Given the description of an element on the screen output the (x, y) to click on. 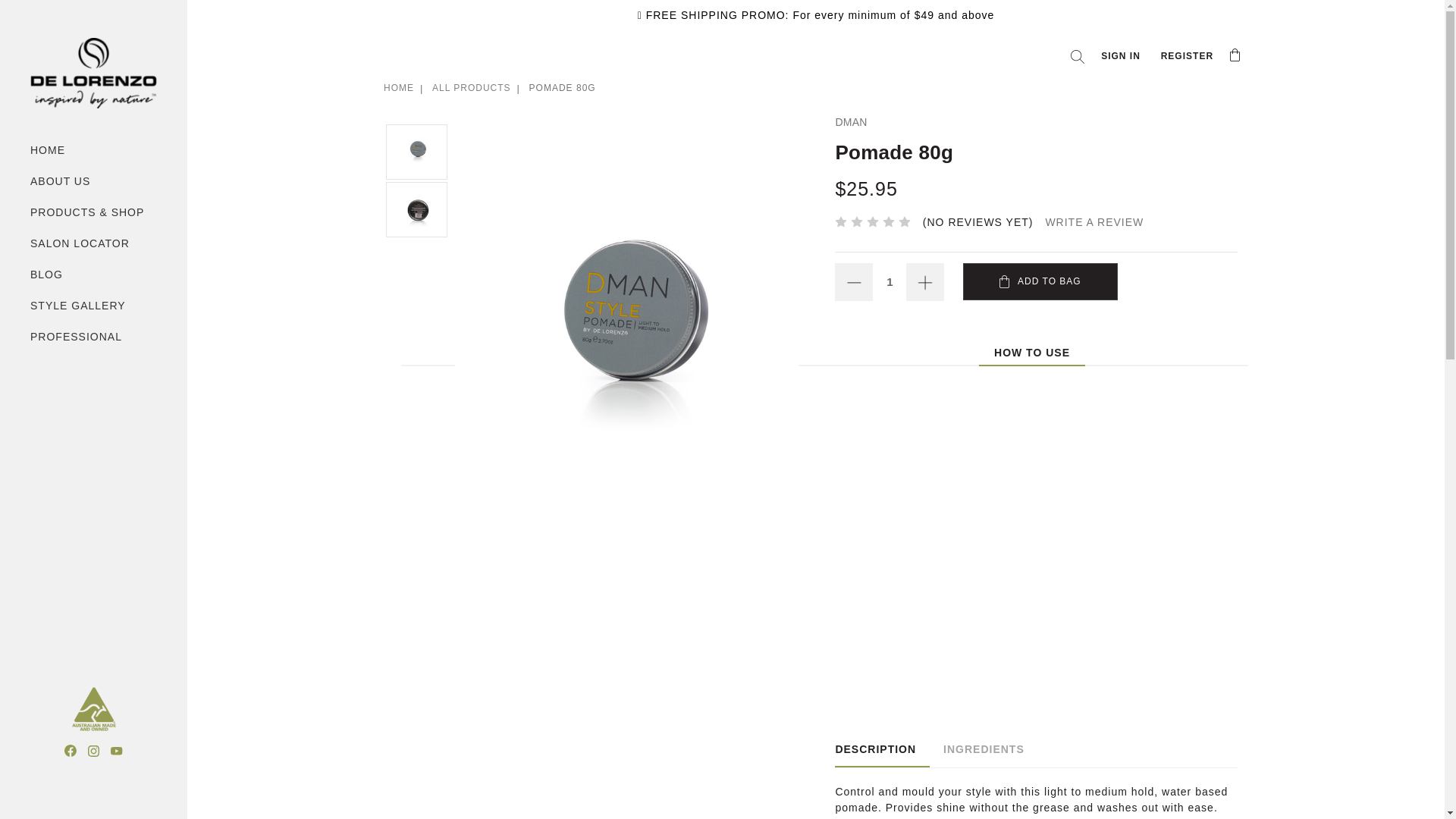
HOME Element type: text (93, 150)
Pomade 80g Element type: hover (417, 151)
ALL PRODUCTS Element type: text (471, 87)
SALON LOCATOR Element type: text (93, 243)
HOME Element type: text (398, 87)
Pomade 80g Element type: hover (417, 209)
ADD TO BAG Element type: text (1040, 281)
Pomade 80g Element type: hover (626, 342)
INGREDIENTS Element type: text (983, 749)
ABOUT US Element type: text (93, 181)
SIGN IN Element type: text (1120, 55)
DMAN Element type: text (850, 121)
INCREASE QUANTITY: Element type: text (925, 282)
PROFESSIONAL Element type: text (93, 336)
WRITE A REVIEW Element type: text (1093, 222)
De Lorenzo Hair and Cosmetic Research Pty Ltd  Element type: hover (93, 72)
STYLE GALLERY Element type: text (93, 305)
BLOG Element type: text (93, 274)
DECREASE QUANTITY: Element type: text (853, 282)
DESCRIPTION Element type: text (881, 749)
REGISTER Element type: text (1186, 55)
PRODUCTS & SHOP Element type: text (93, 212)
